Given the description of an element on the screen output the (x, y) to click on. 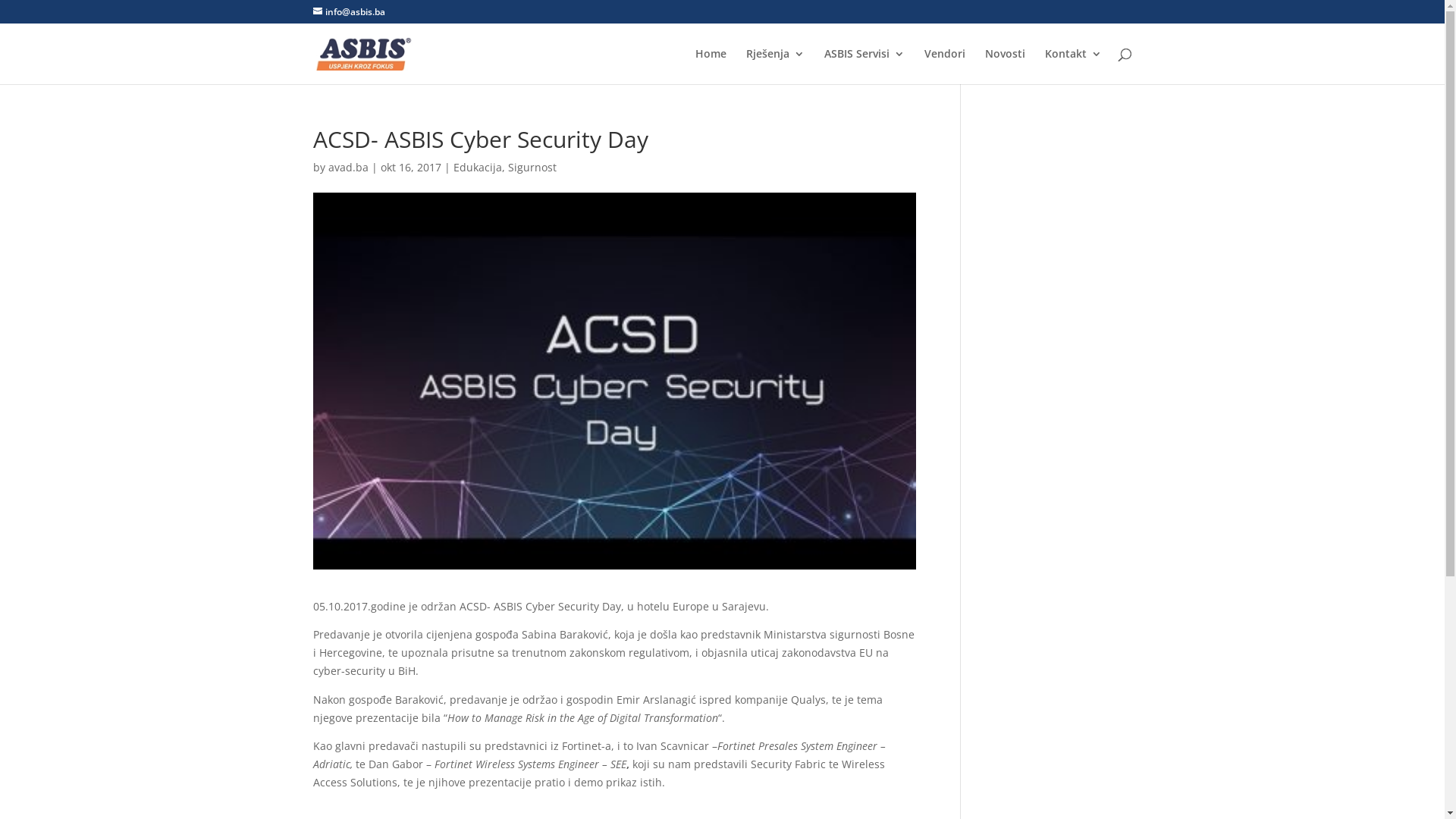
Home Element type: text (709, 66)
Novosti Element type: text (1004, 66)
Vendori Element type: text (943, 66)
Kontakt Element type: text (1072, 66)
Sigurnost Element type: text (532, 167)
avad.ba Element type: text (347, 167)
info@asbis.ba Element type: text (348, 11)
Edukacija Element type: text (477, 167)
ASBIS Servisi Element type: text (863, 66)
